Given the description of an element on the screen output the (x, y) to click on. 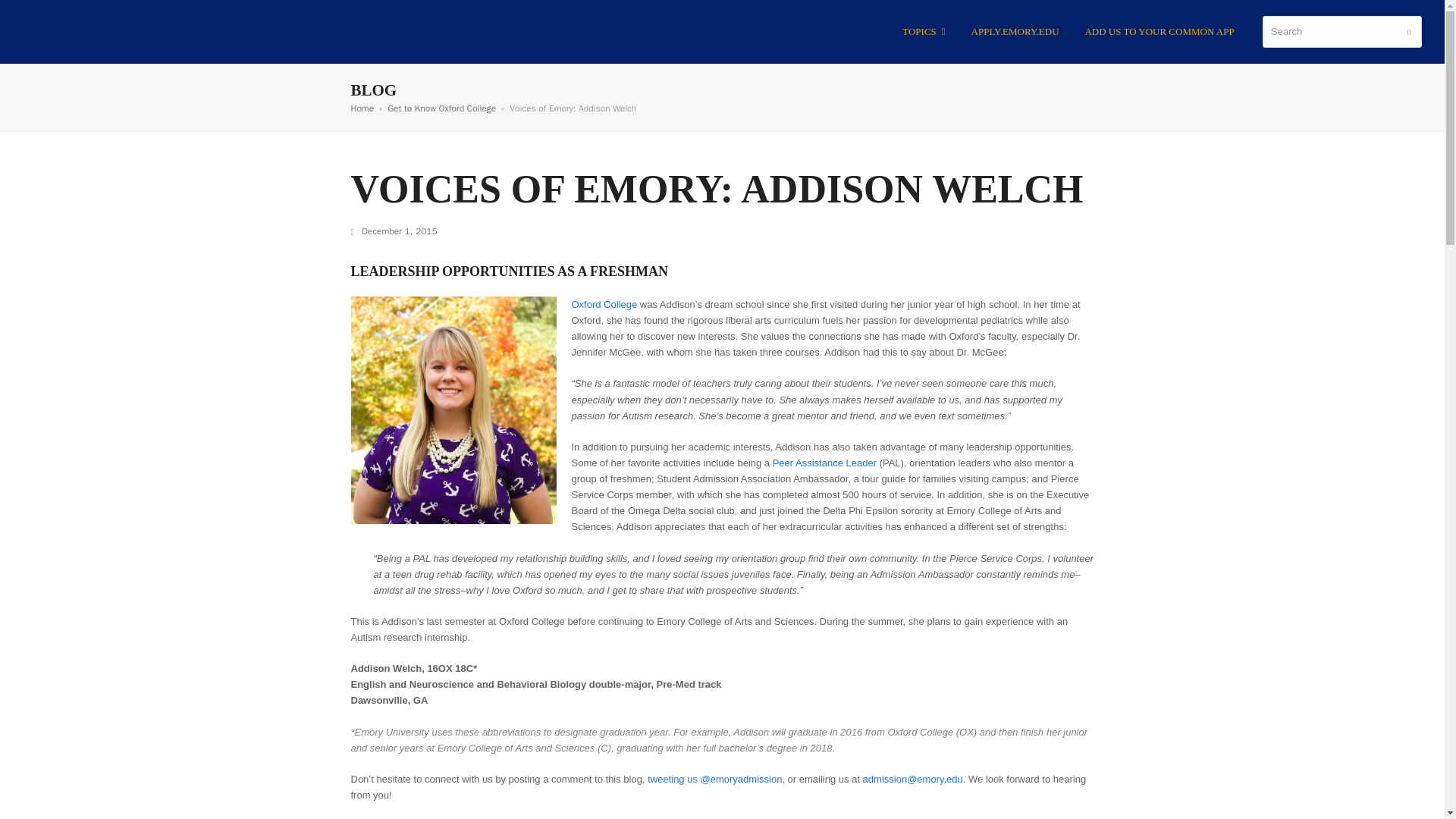
Home (362, 108)
Get to Know Oxford College (441, 108)
ADD US TO YOUR COMMON APP (1158, 31)
TOPICS (923, 31)
Oxford College (604, 304)
Peer Assistance Leader (824, 462)
APPLY.EMORY.EDU (1014, 31)
